Given the description of an element on the screen output the (x, y) to click on. 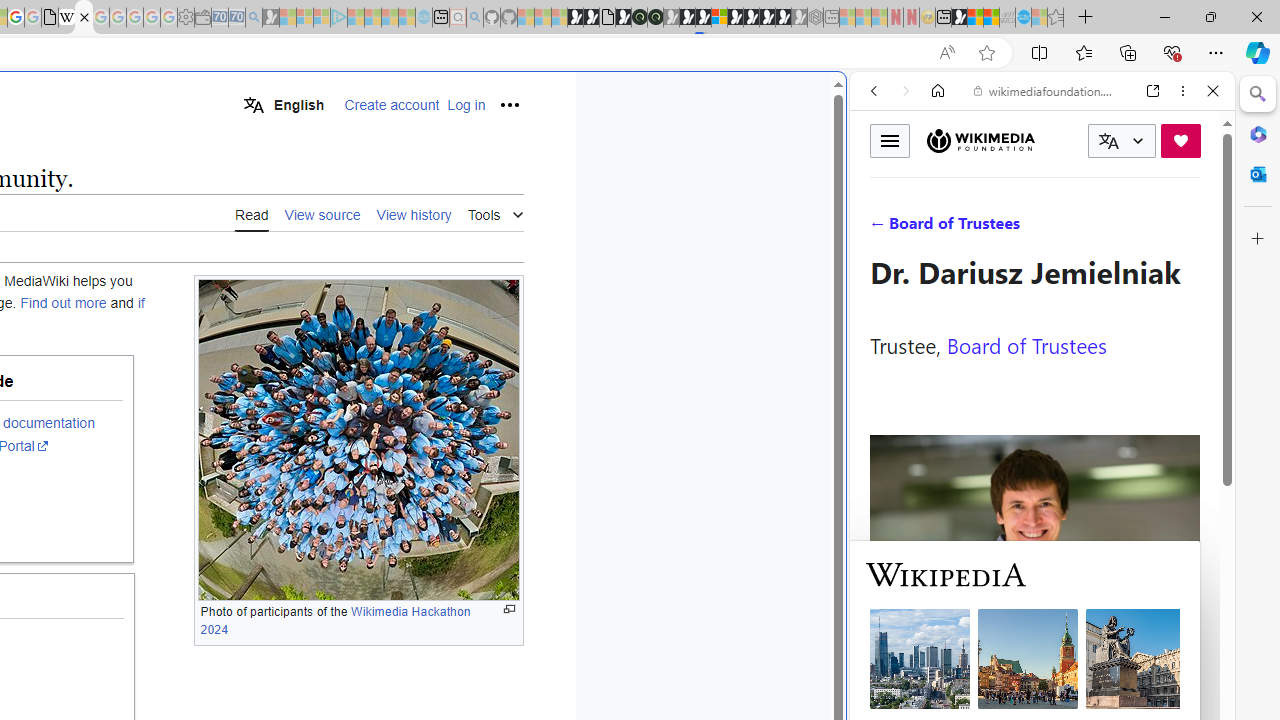
Sign in to your account (719, 17)
